Given the description of an element on the screen output the (x, y) to click on. 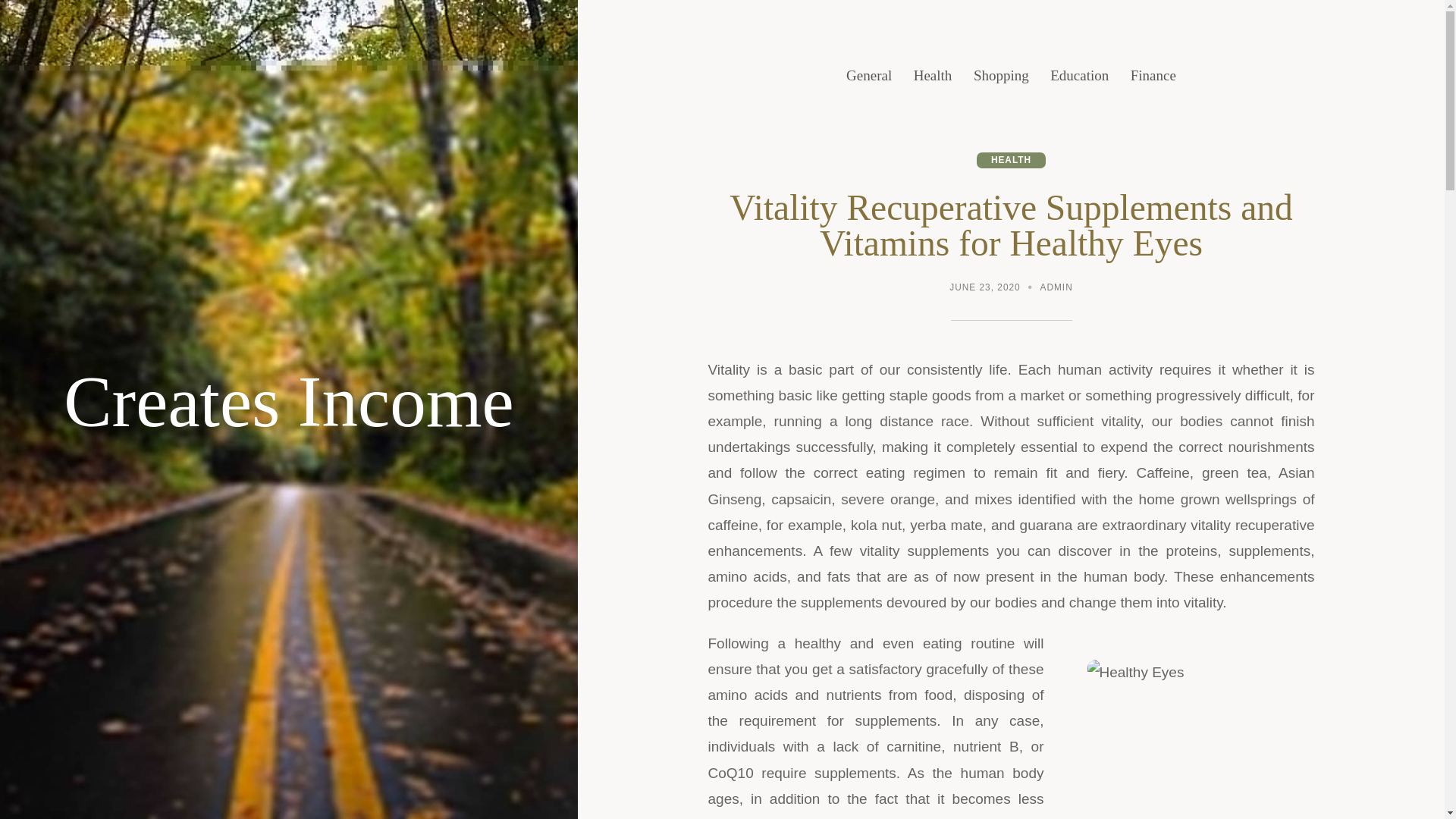
HEALTH (1010, 160)
General (868, 76)
ADMIN (1057, 288)
Health (933, 76)
Shopping (1001, 76)
Finance (1153, 76)
Education (1078, 76)
JUNE 23, 2020 (984, 288)
Creates Income (288, 402)
